Given the description of an element on the screen output the (x, y) to click on. 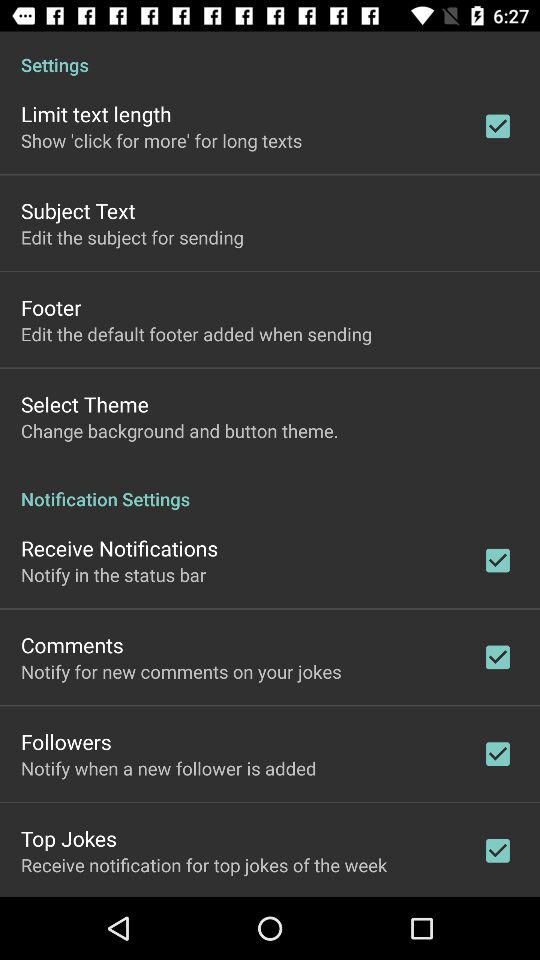
press item above receive notifications app (270, 488)
